Given the description of an element on the screen output the (x, y) to click on. 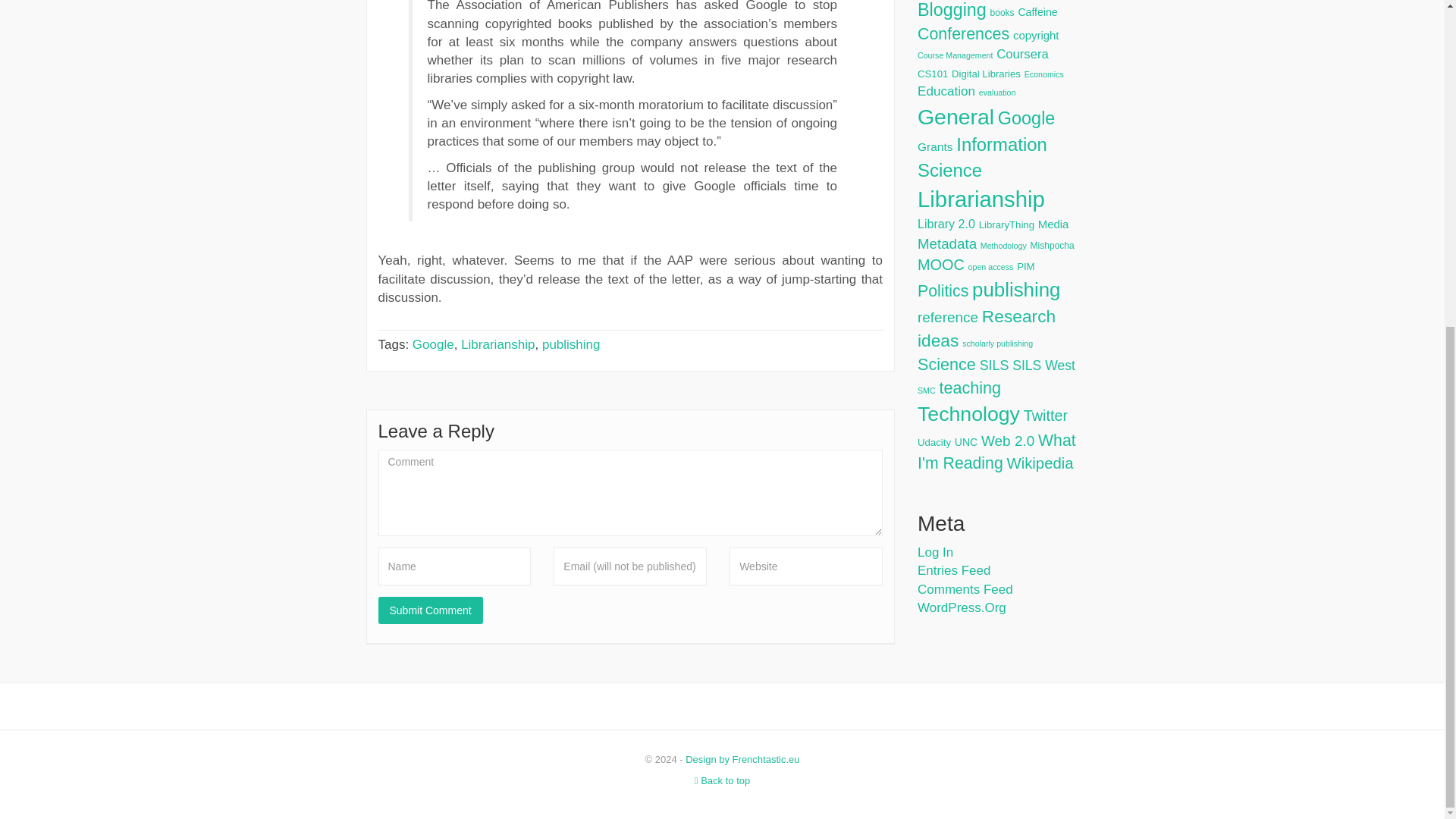
books (1002, 12)
Conferences (963, 34)
publishing (570, 344)
Librarianship (497, 344)
Library 2.0 (946, 223)
Google (433, 344)
Economics (1044, 73)
Education (946, 91)
Caffeine (1037, 11)
Digital Libraries (986, 73)
